Given the description of an element on the screen output the (x, y) to click on. 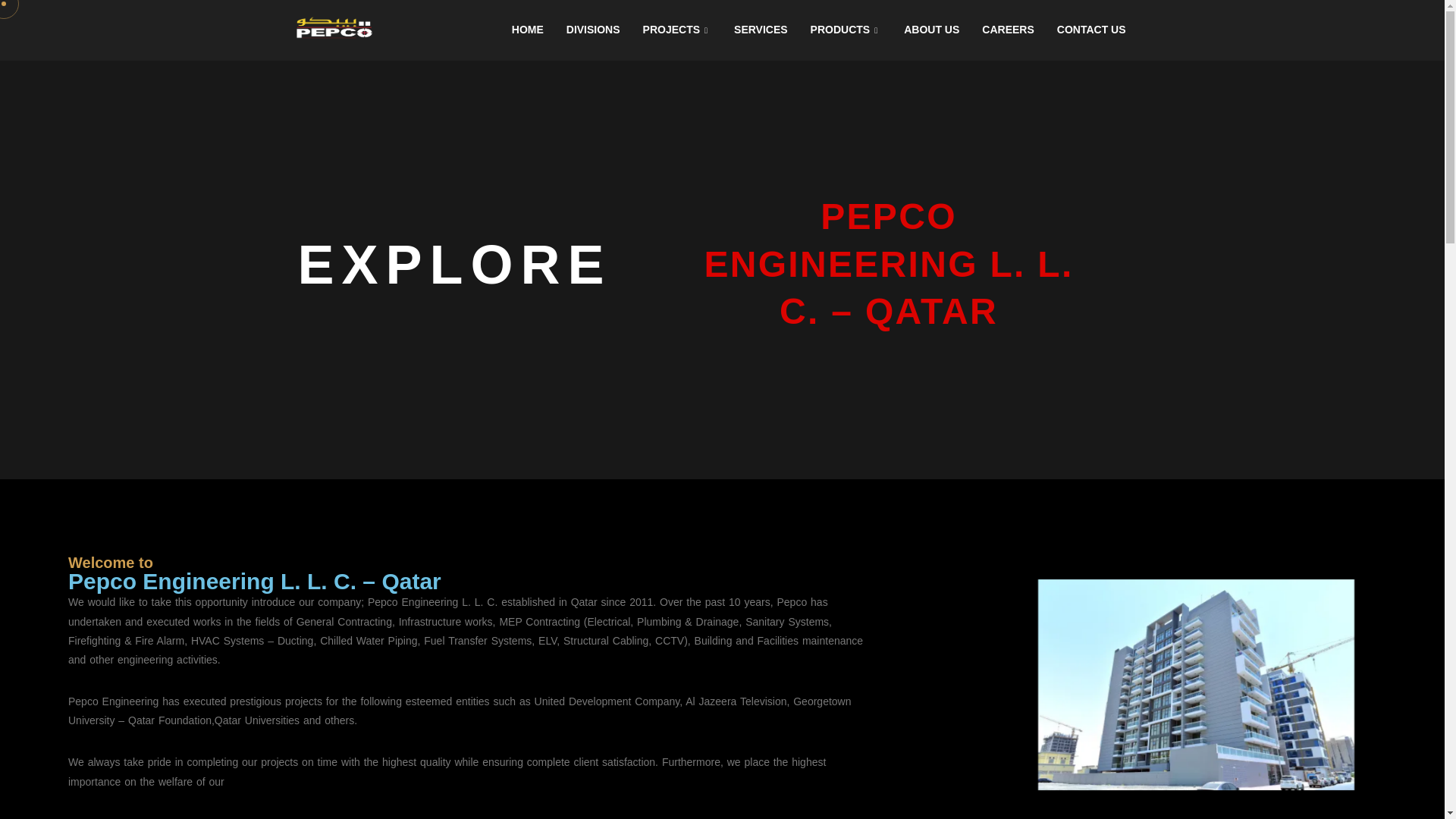
SERVICES (760, 30)
CONTACT US (1091, 30)
PRODUCTS (846, 30)
CAREERS (1008, 30)
PROJECTS (677, 30)
ABOUT US (931, 30)
DIVISIONS (592, 30)
HOME (527, 30)
